Given the description of an element on the screen output the (x, y) to click on. 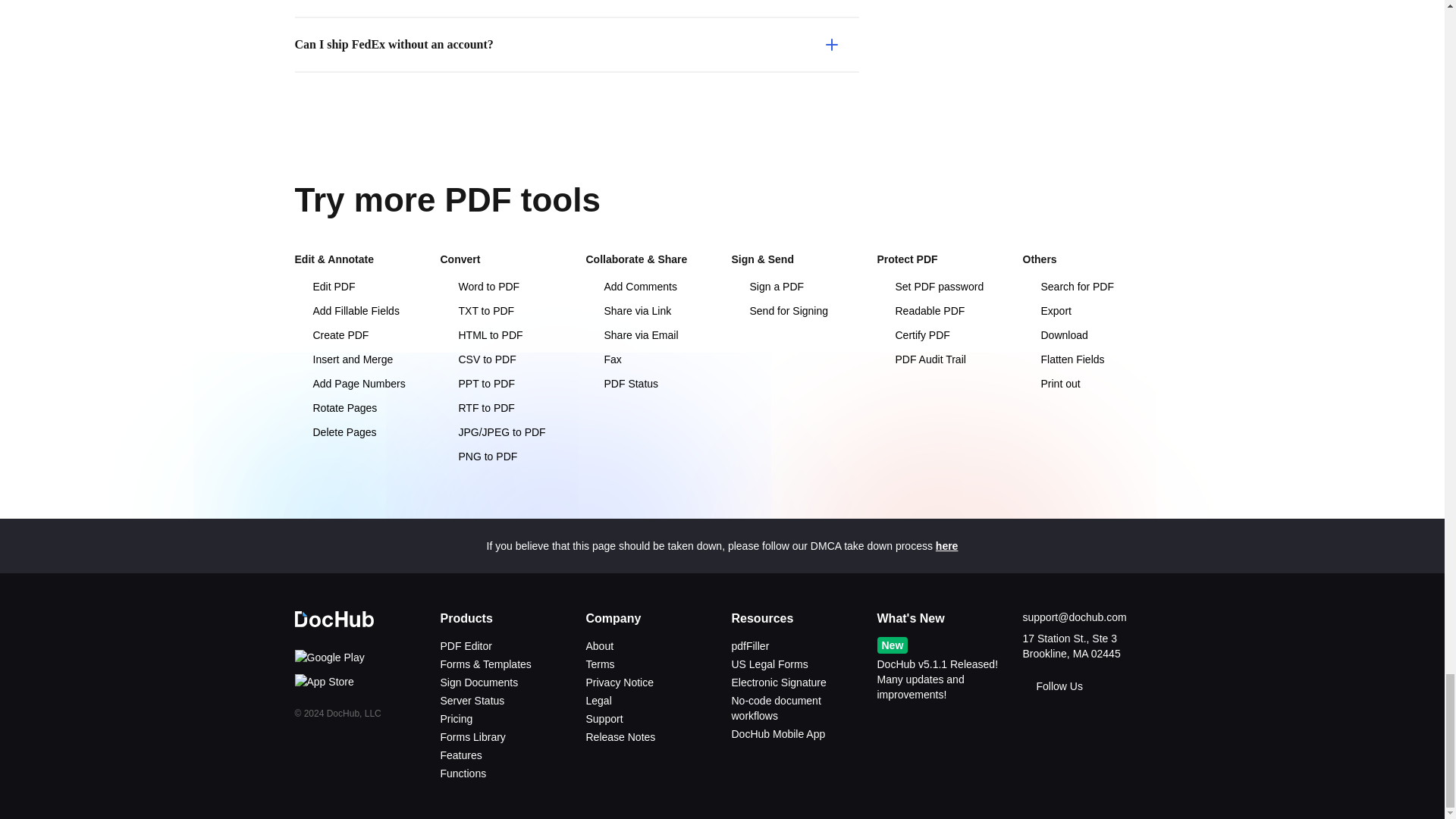
Rotate Pages (358, 407)
Insert and Merge (358, 359)
Create PDF (358, 335)
Word to PDF (503, 286)
Delete Pages (358, 432)
Add Page Numbers (358, 383)
Edit PDF (358, 286)
Add Fillable Fields (358, 310)
